Given the description of an element on the screen output the (x, y) to click on. 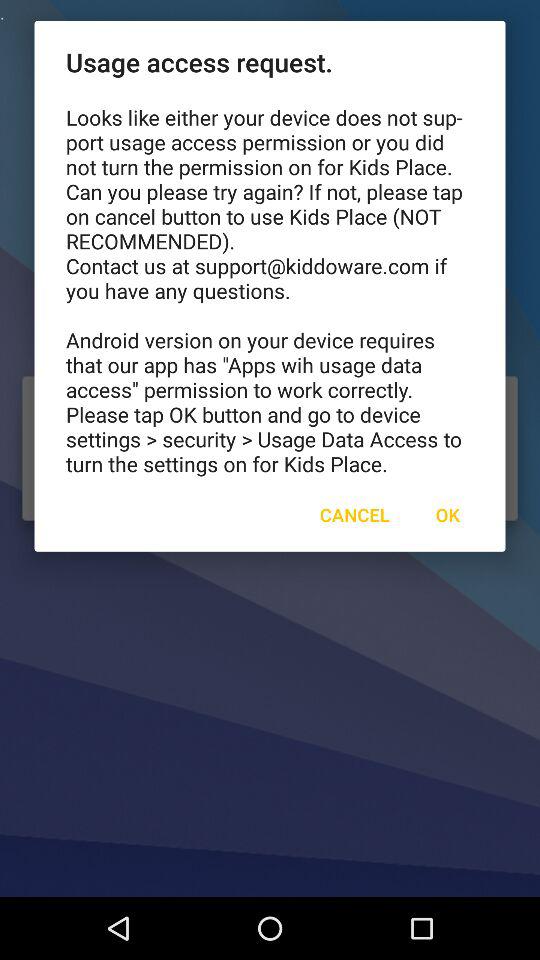
select the icon next to the cancel icon (447, 514)
